Given the description of an element on the screen output the (x, y) to click on. 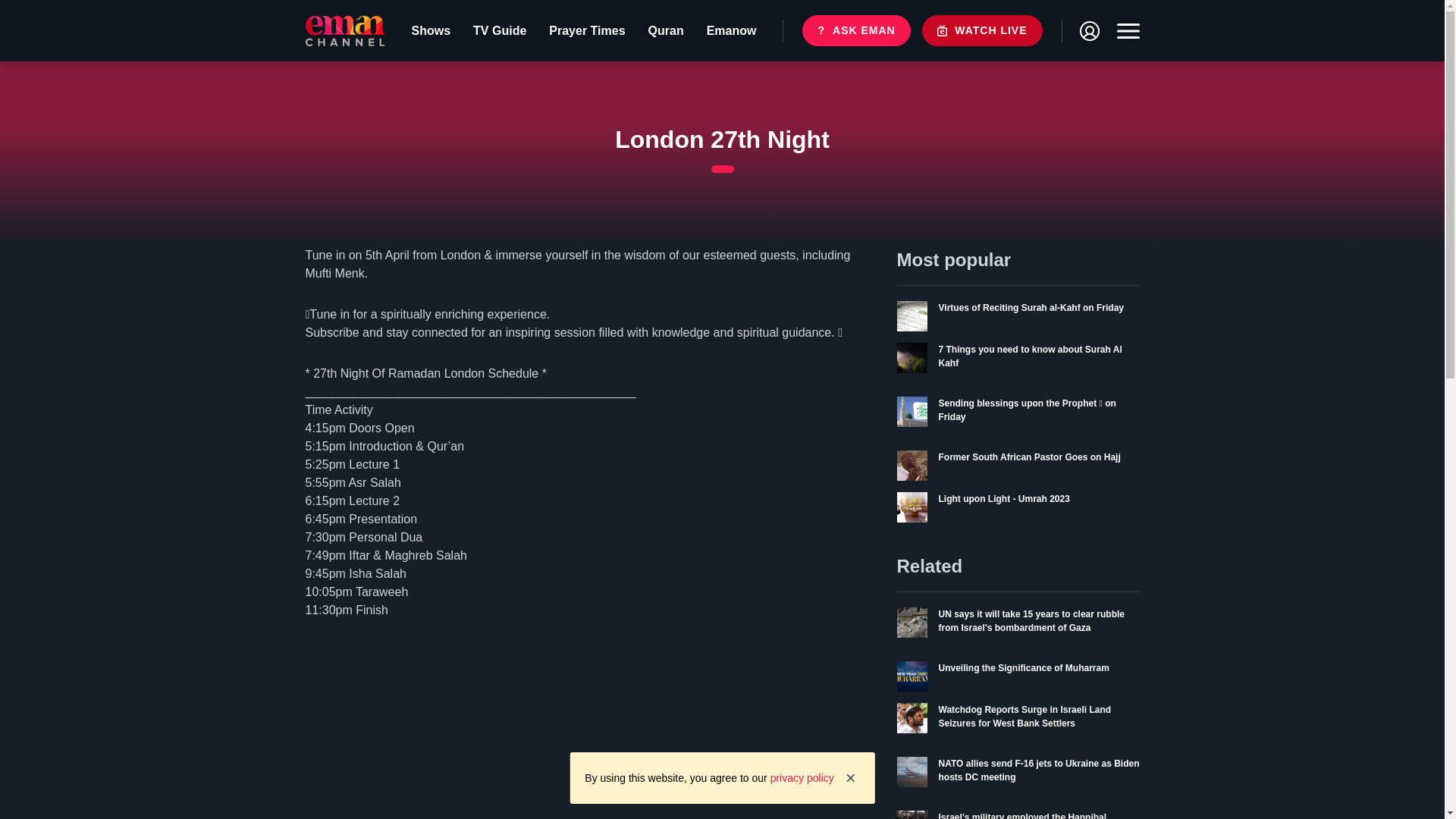
7 Things you need to know about Surah Al Kahf (1018, 363)
Quran (665, 30)
Unveiling the Significance of Muharram (856, 30)
WATCH LIVE (1018, 675)
Shows (981, 30)
Former South African Pastor Goes on Hajj (431, 30)
TV Guide (1018, 465)
Light upon Light - Umrah 2023 (499, 30)
Virtues of Reciting Surah al-Kahf on Friday (1018, 507)
Prayer Times (1018, 316)
Emanow (586, 30)
